Given the description of an element on the screen output the (x, y) to click on. 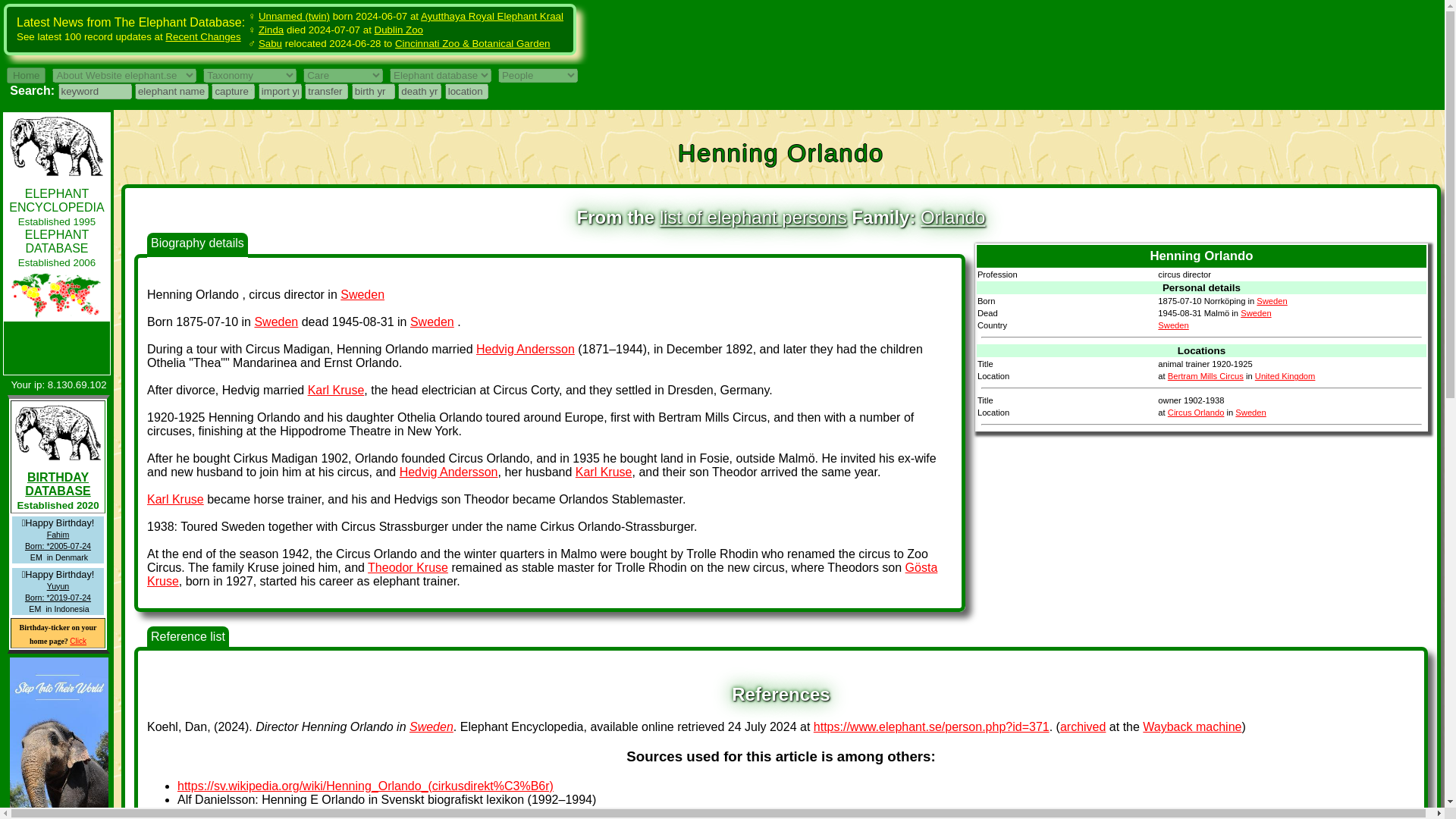
Hedvig Andersson (525, 349)
elephant name (171, 91)
Hedvig Andersson (447, 472)
Sweden (1271, 300)
Karl Kruse (336, 390)
keyword (94, 91)
Elephant News (55, 200)
United Kingdom (1285, 375)
Sweden (430, 726)
Karl Kruse (336, 390)
Karl Kruse (175, 499)
Sweden (1255, 312)
Sweden (275, 321)
Elephant Yuyun born 2019-07-24 in Indonesia (57, 591)
capture yr (232, 91)
